Given the description of an element on the screen output the (x, y) to click on. 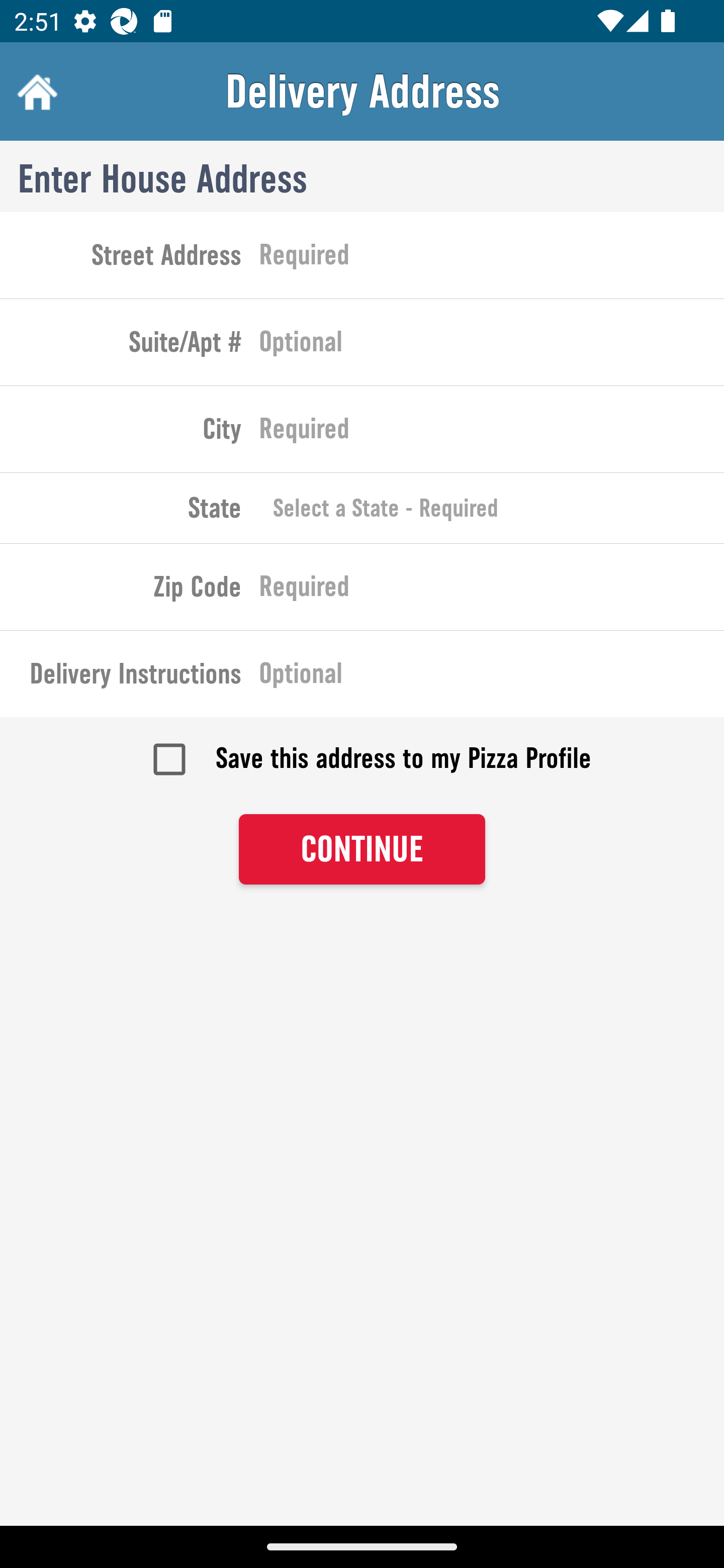
Home (35, 91)
Required (491, 258)
Optional (491, 345)
Required (491, 432)
Select a State - Required (491, 507)
Required (491, 590)
Optional (491, 677)
CONTINUE (361, 848)
